Given the description of an element on the screen output the (x, y) to click on. 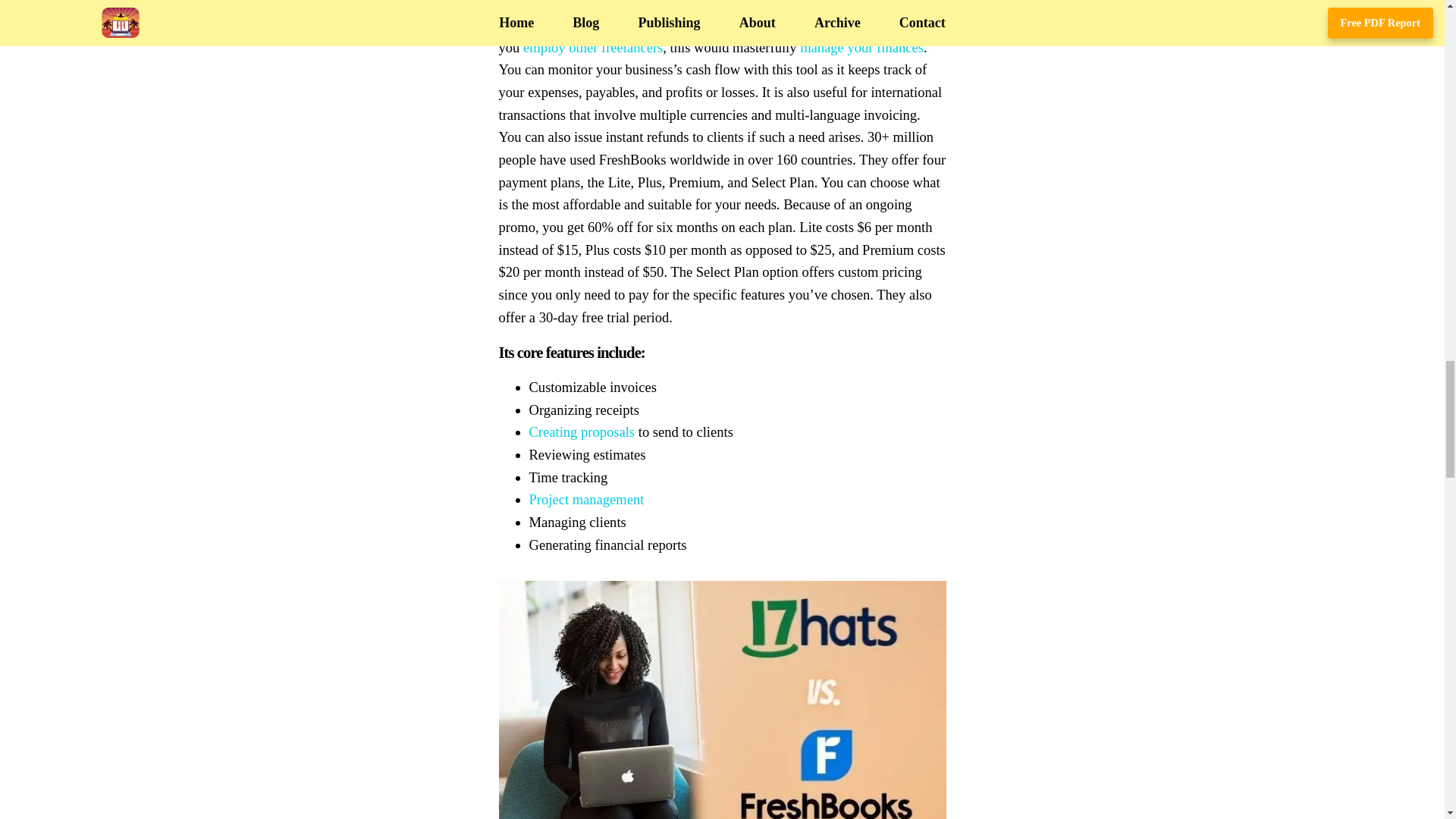
Creating proposals (581, 431)
Project management (587, 498)
employ other freelancers (592, 47)
manage your finances (861, 47)
